Given the description of an element on the screen output the (x, y) to click on. 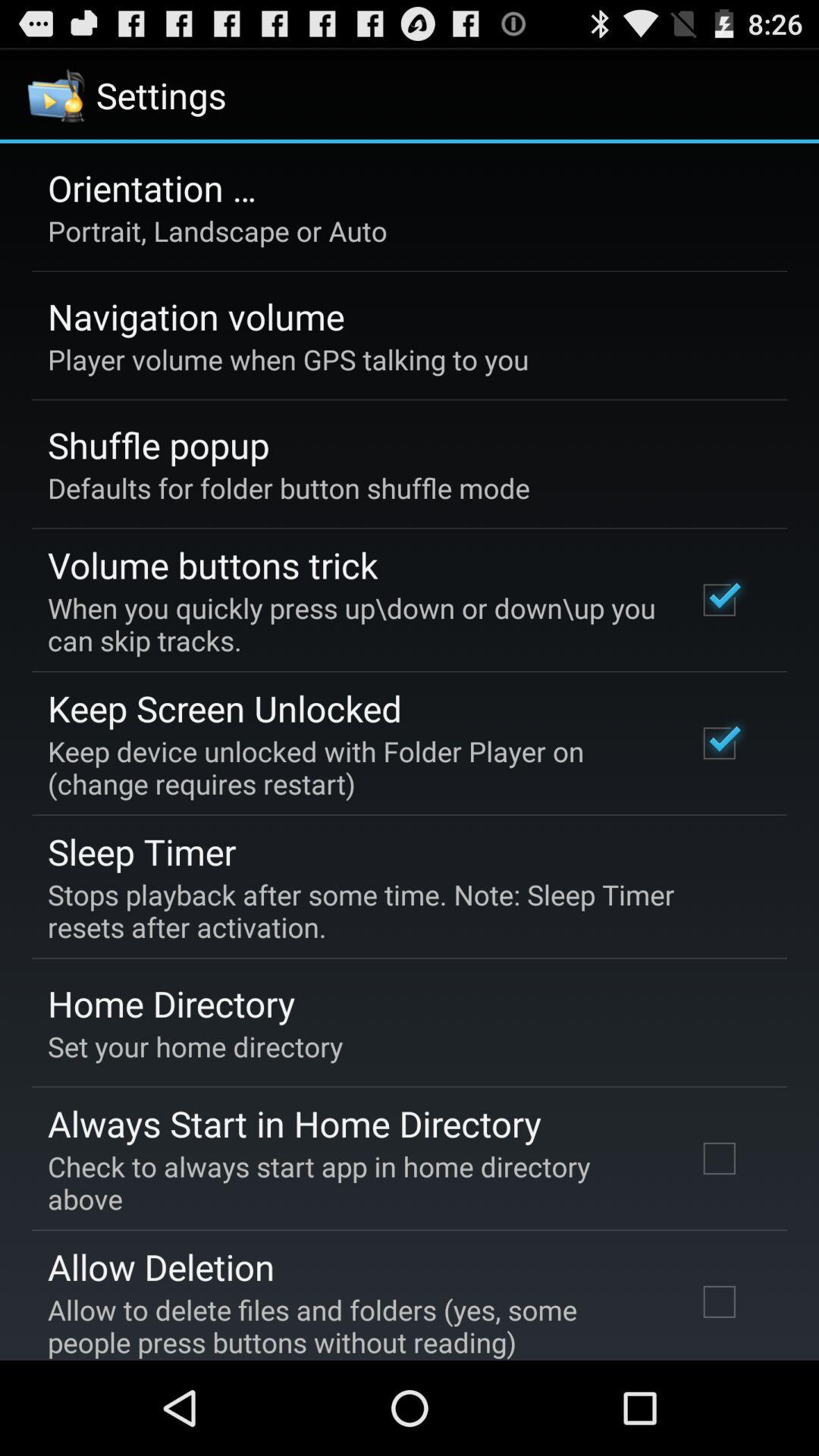
tap item above always start in app (194, 1046)
